Given the description of an element on the screen output the (x, y) to click on. 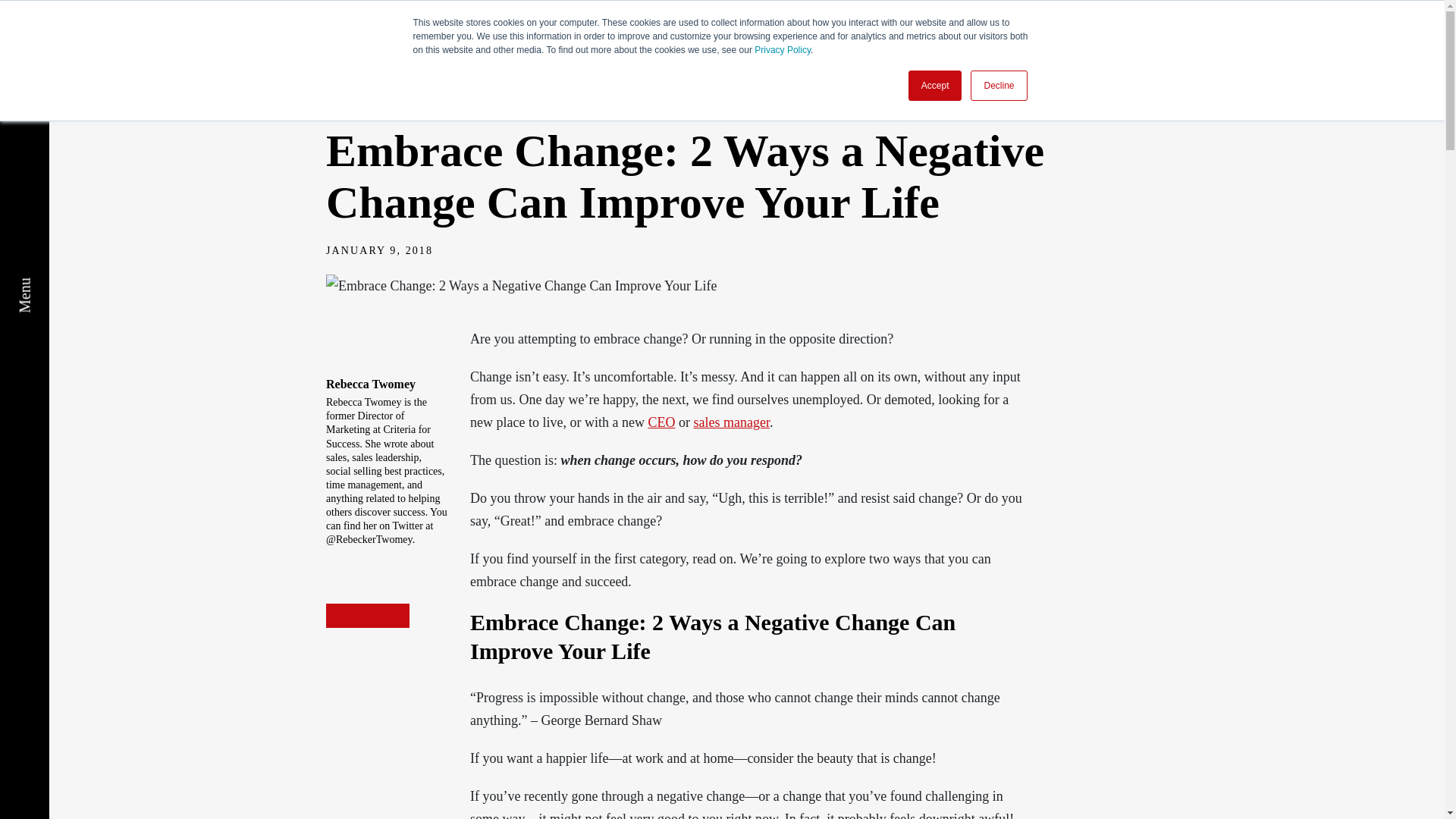
Resources Page (361, 108)
INSIGHTS (1324, 45)
EXPERTISE (871, 45)
RESOURCES (1179, 45)
INDUSTRIES (1024, 45)
Decline (998, 85)
Privacy Policy (782, 50)
Accept (935, 85)
